Given the description of an element on the screen output the (x, y) to click on. 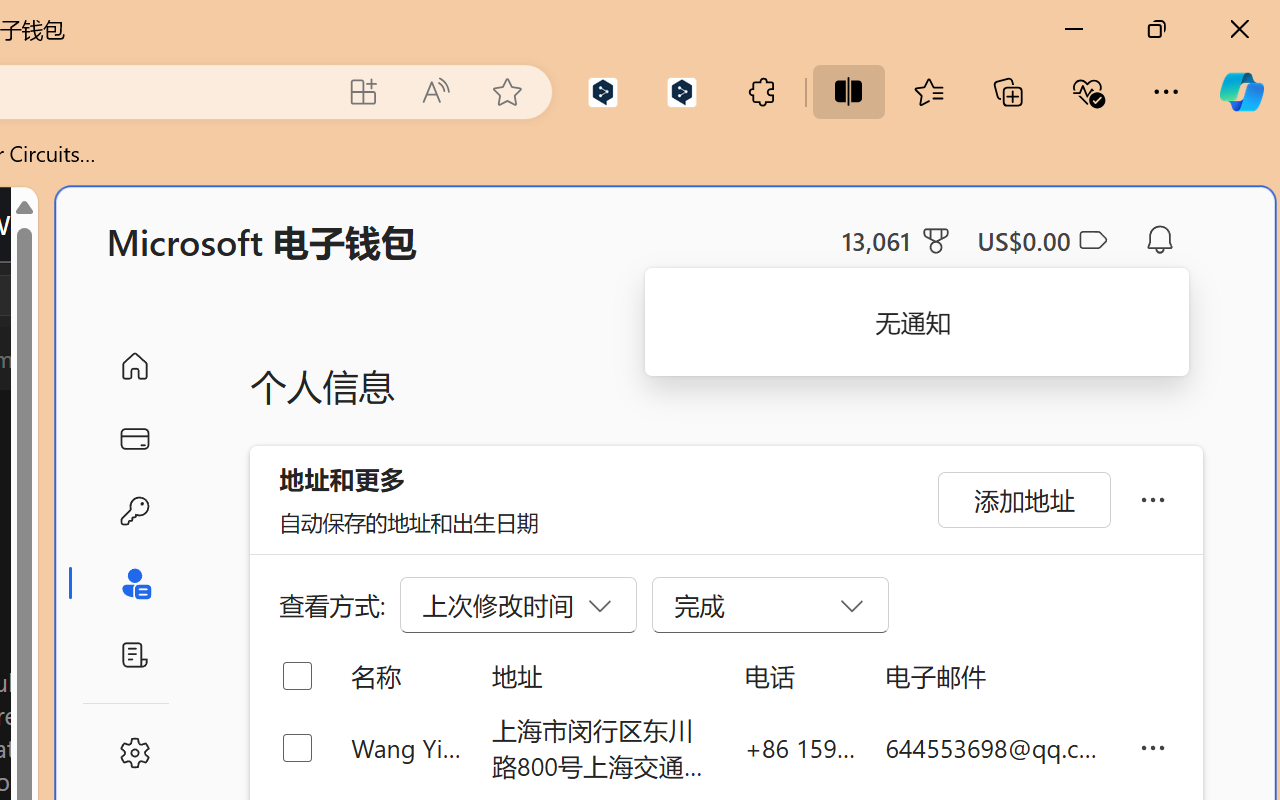
Copilot (Ctrl+Shift+.) (1241, 91)
Microsoft Cashback - US$0.00 (1041, 240)
